Given the description of an element on the screen output the (x, y) to click on. 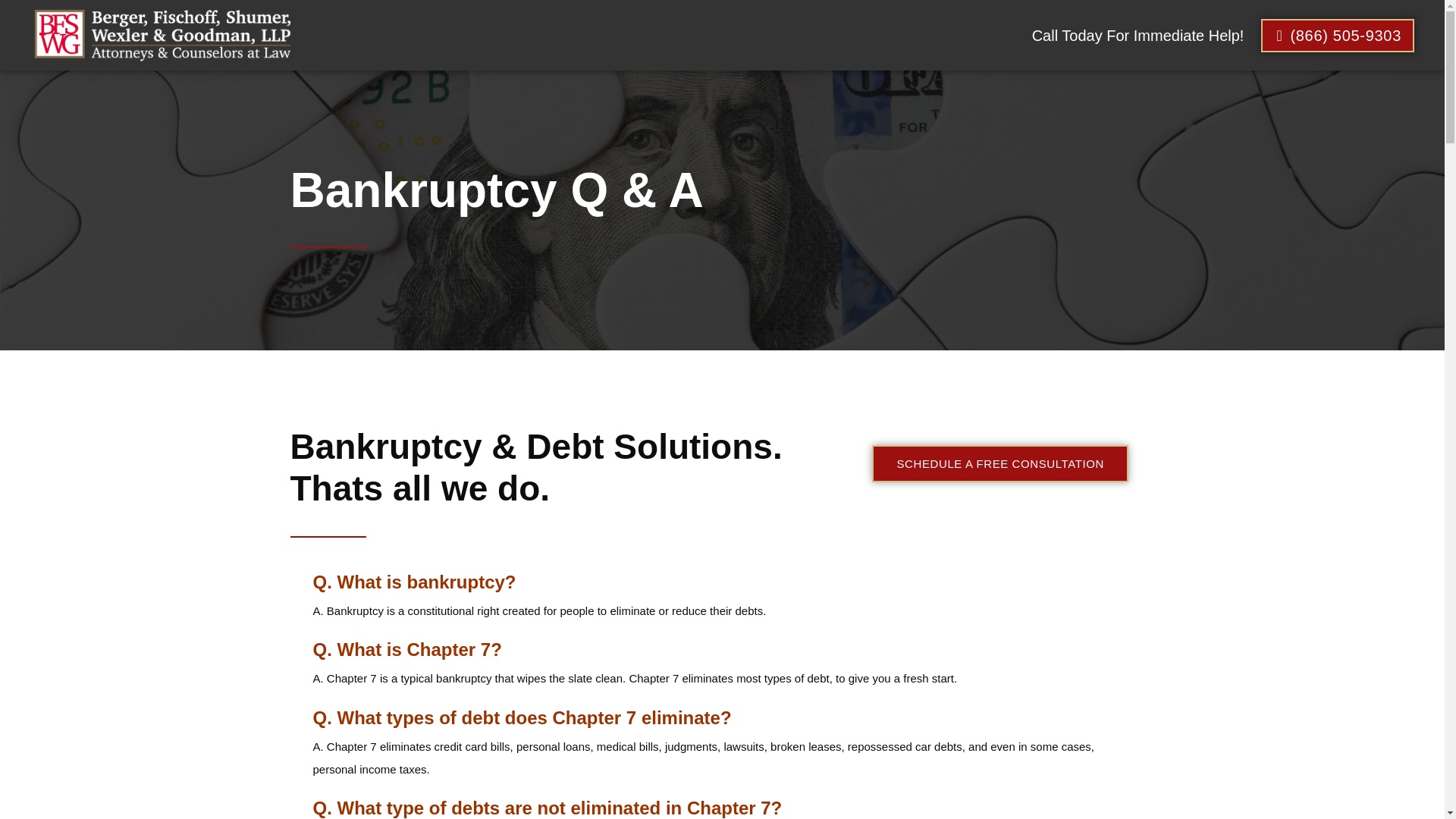
SCHEDULE A FREE CONSULTATION (1000, 463)
Creative Services of New York (547, 712)
